Given the description of an element on the screen output the (x, y) to click on. 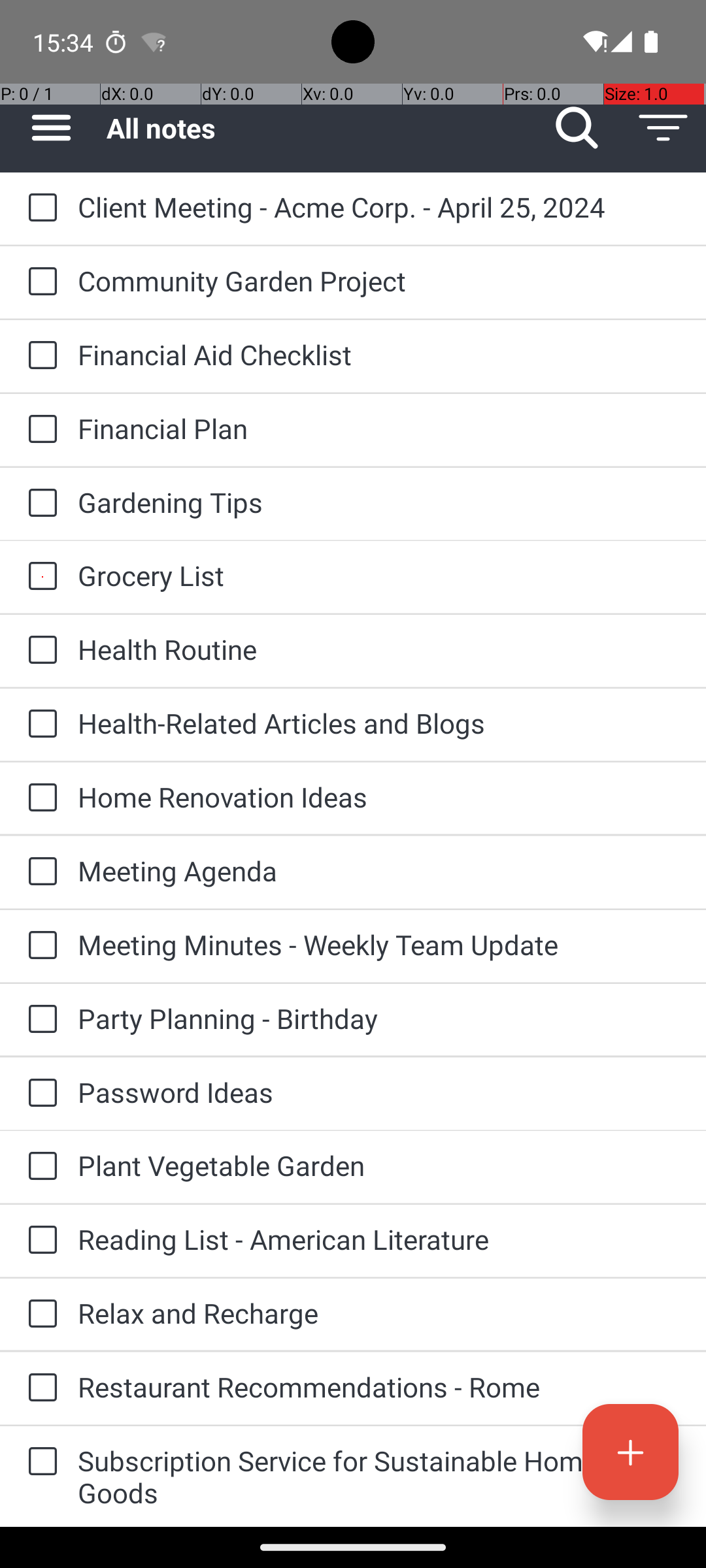
to-do: Financial Plan Element type: android.widget.CheckBox (38, 429)
Financial Plan Element type: android.widget.TextView (378, 427)
to-do: Health Routine Element type: android.widget.CheckBox (38, 650)
Health Routine Element type: android.widget.TextView (378, 648)
to-do: Health-Related Articles and Blogs Element type: android.widget.CheckBox (38, 724)
Health-Related Articles and Blogs Element type: android.widget.TextView (378, 722)
to-do: Home Renovation Ideas Element type: android.widget.CheckBox (38, 798)
to-do: Party Planning - Birthday Element type: android.widget.CheckBox (38, 1019)
Party Planning - Birthday Element type: android.widget.TextView (378, 1017)
to-do: Password Ideas Element type: android.widget.CheckBox (38, 1093)
Password Ideas Element type: android.widget.TextView (378, 1091)
to-do: Plant Vegetable Garden Element type: android.widget.CheckBox (38, 1166)
Plant Vegetable Garden Element type: android.widget.TextView (378, 1164)
to-do: Reading List - American Literature Element type: android.widget.CheckBox (38, 1240)
Reading List - American Literature Element type: android.widget.TextView (378, 1238)
to-do: Relax and Recharge Element type: android.widget.CheckBox (38, 1314)
Relax and Recharge Element type: android.widget.TextView (378, 1312)
to-do: Subscription Service for Sustainable Home Goods Element type: android.widget.CheckBox (38, 1462)
Subscription Service for Sustainable Home Goods Element type: android.widget.TextView (378, 1476)
